Given the description of an element on the screen output the (x, y) to click on. 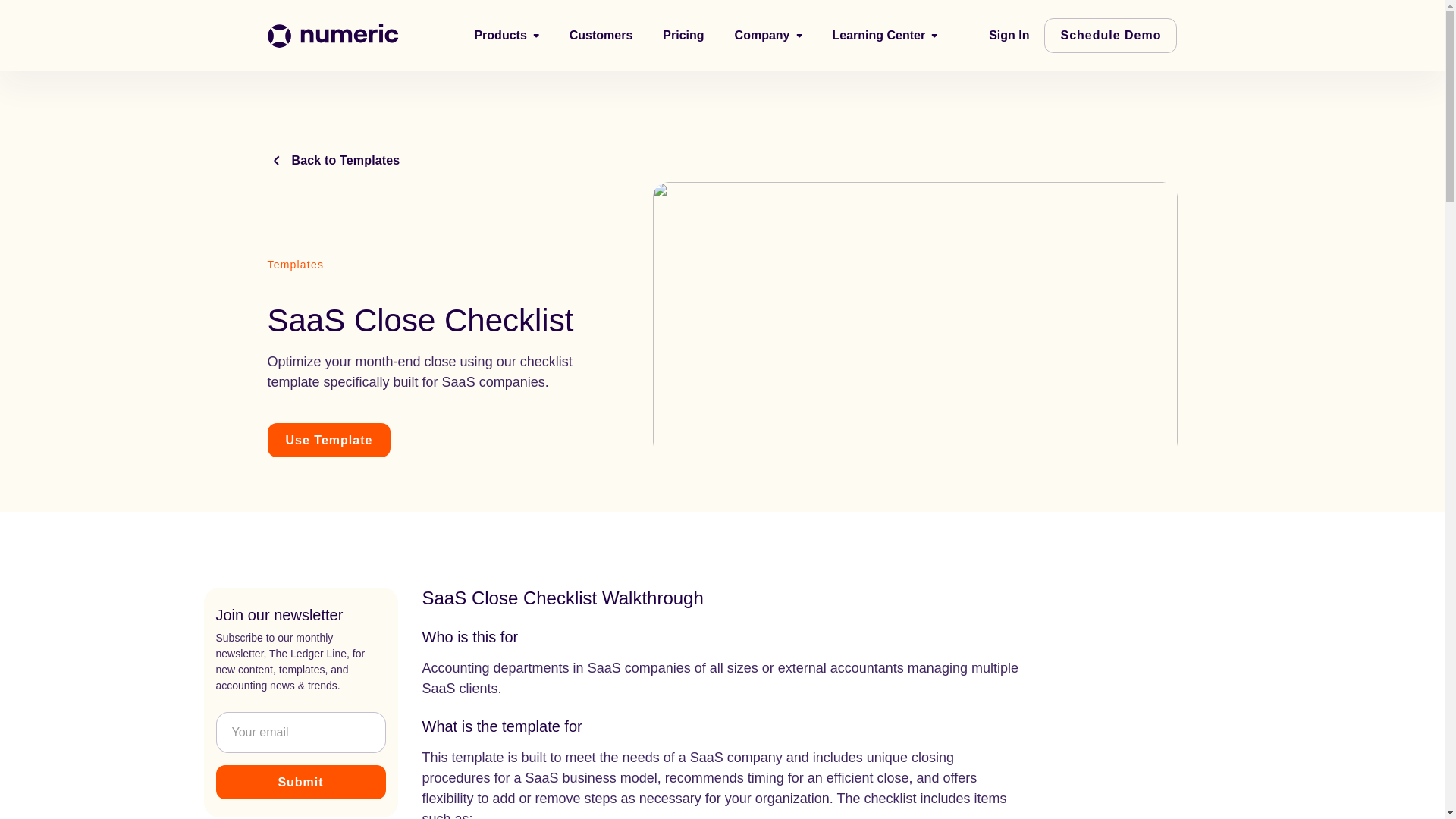
Customers (601, 35)
Back to Templates (332, 160)
Sign In (1008, 35)
Use Template (328, 440)
Schedule Demo (1109, 35)
Pricing (682, 35)
Submit (300, 781)
Submit (300, 781)
